Given the description of an element on the screen output the (x, y) to click on. 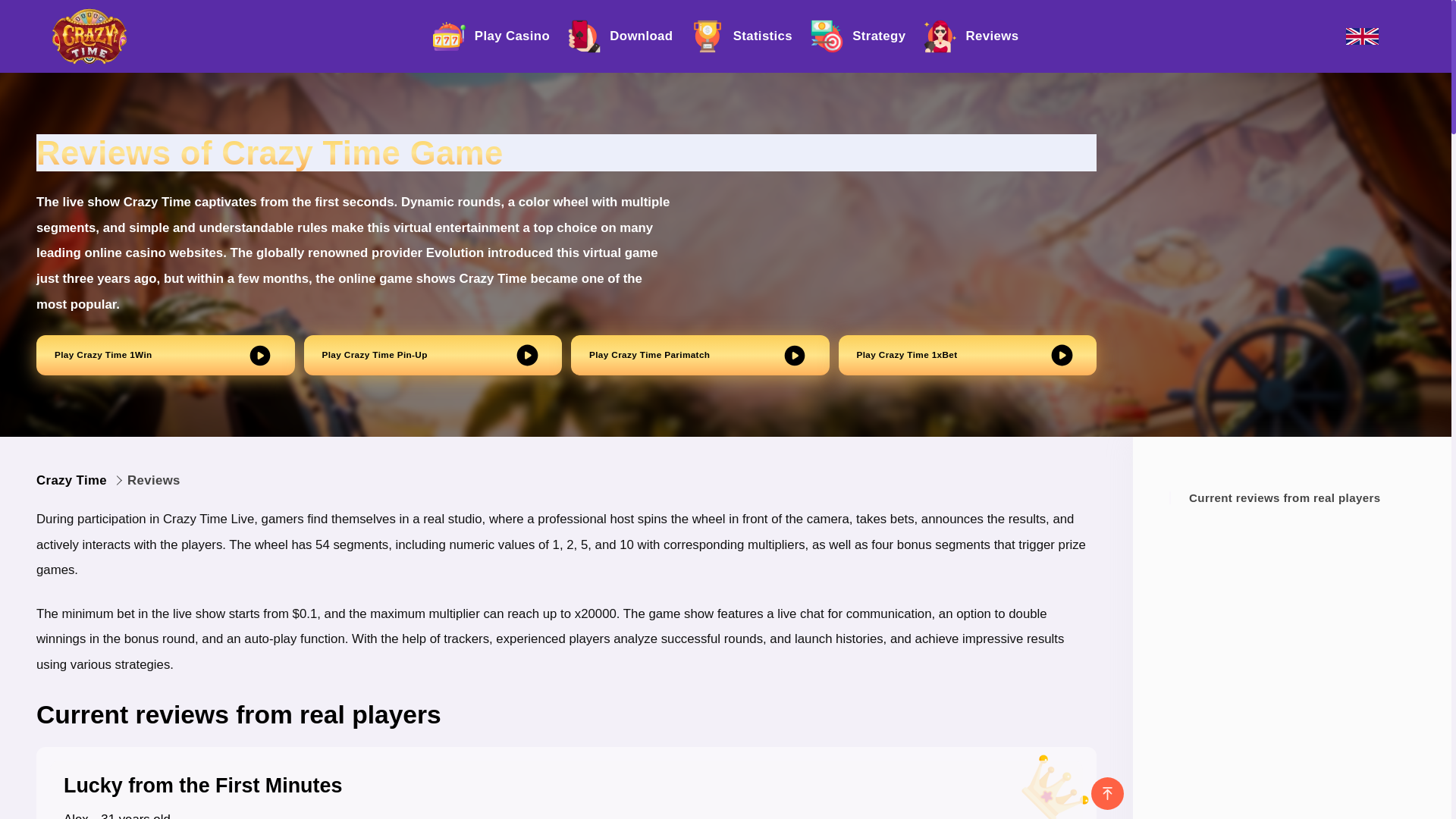
Current reviews from real players (1302, 497)
Crazy Time (89, 36)
Play Crazy Time 1Win (165, 354)
Strategy (858, 36)
Play Casino (491, 36)
English (1361, 36)
Statistics (741, 36)
Reviews (970, 36)
Crazy Time (71, 480)
Play Crazy Time 1xBet (967, 354)
Play Crazy Time Parimatch (699, 354)
Reviews (154, 480)
Download (620, 36)
Play Crazy Time Pin-Up (432, 354)
